Given the description of an element on the screen output the (x, y) to click on. 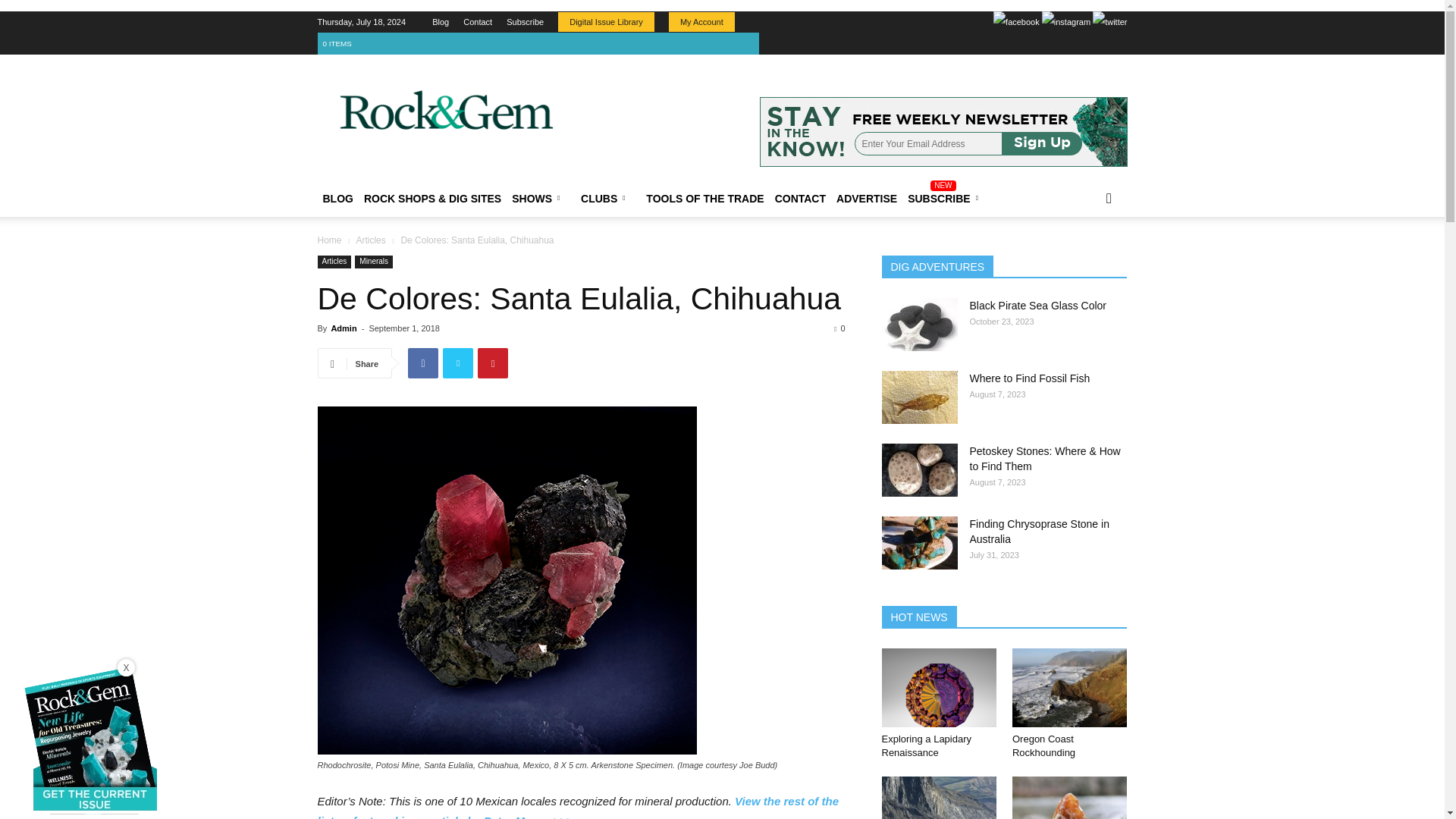
View all posts in Articles (370, 240)
Digital Issue Library (605, 21)
Blog (440, 21)
SHOWS (540, 198)
Rhodochrosite, Potosi Mine (506, 580)
Instagram (1066, 21)
My Account (701, 21)
Contact (477, 21)
Click to Show (537, 43)
Please enter valid email-id ! (943, 132)
Twitter (1109, 21)
BLOG (337, 198)
Facebook (1015, 21)
Thank You for Subscribing ! (850, 132)
Subscribe (524, 21)
